Given the description of an element on the screen output the (x, y) to click on. 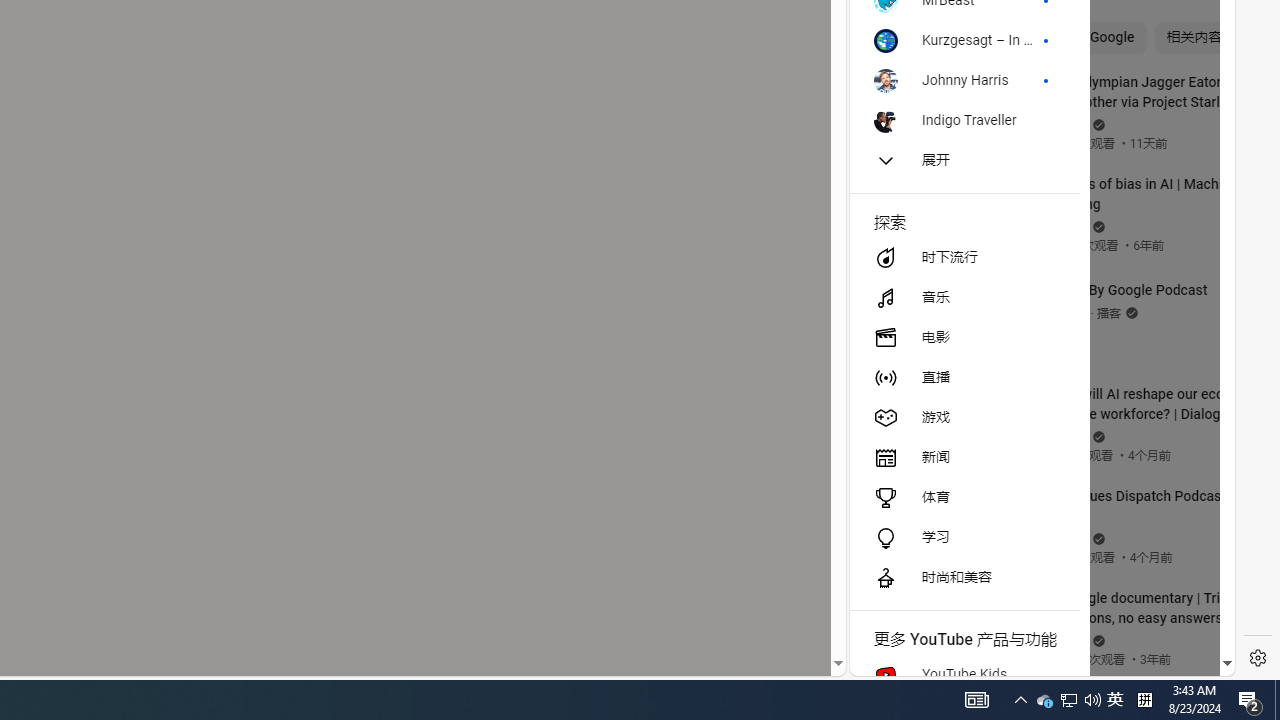
US[ju] (917, 660)
YouTube - YouTube (1034, 266)
Class: dict_pnIcon rms_img (1028, 660)
#you (1034, 439)
Click to scroll right (1196, 83)
YouTube (1034, 432)
Actions for this site (1131, 443)
